Given the description of an element on the screen output the (x, y) to click on. 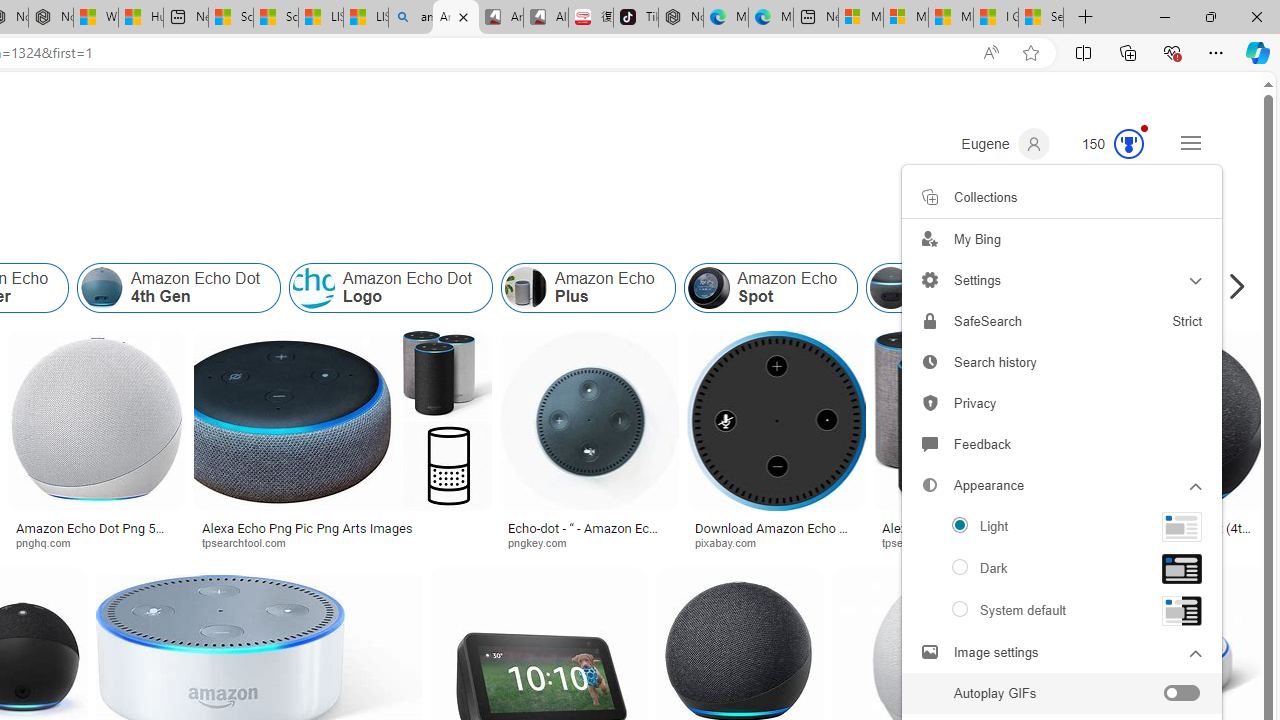
pixabay.com (776, 542)
Amazon Echo Dot Logo (314, 287)
pngkey.com (589, 542)
Amazon Echo Dot 3 (968, 287)
Amazon Echo Plus (587, 287)
Amazon Echo Dot Logo (390, 287)
croma.com (1128, 541)
amazon - Search (410, 17)
Class: medal-svg-animation (1129, 143)
Class: outer-circle-animation (1129, 143)
Autoplay GIFs (1061, 695)
Class: hbic_saves (929, 196)
